Given the description of an element on the screen output the (x, y) to click on. 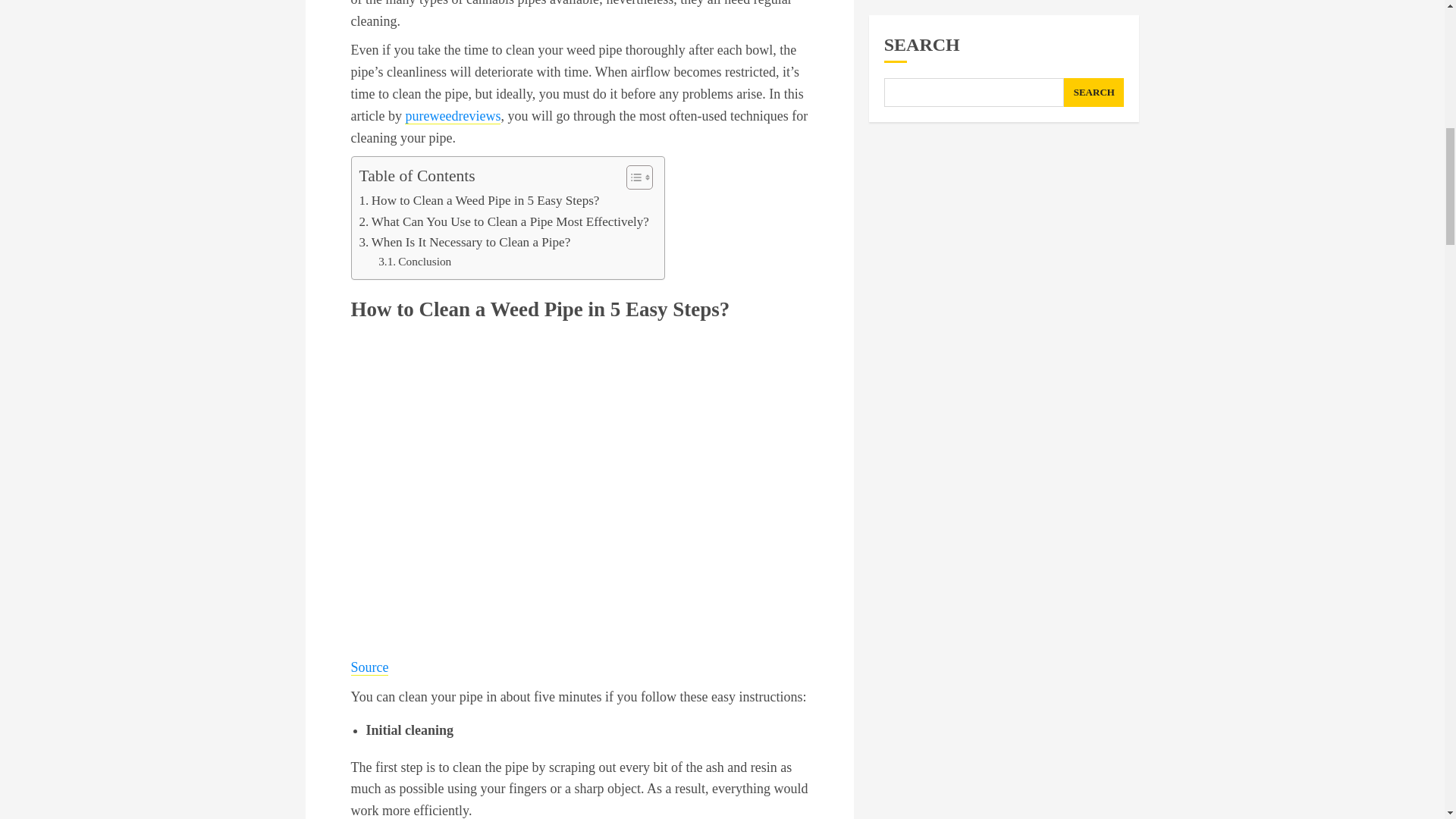
Source (369, 667)
How to Clean a Weed Pipe in 5 Easy Steps? (479, 200)
When Is It Necessary to Clean a Pipe? (464, 241)
pureweedreviews (452, 116)
What Can You Use to Clean a Pipe Most Effectively? (504, 221)
Conclusion (414, 261)
What Can You Use to Clean a Pipe Most Effectively? (504, 221)
How to Clean a Weed Pipe in 5 Easy Steps? (479, 200)
Conclusion (414, 261)
When Is It Necessary to Clean a Pipe? (464, 241)
